Given the description of an element on the screen output the (x, y) to click on. 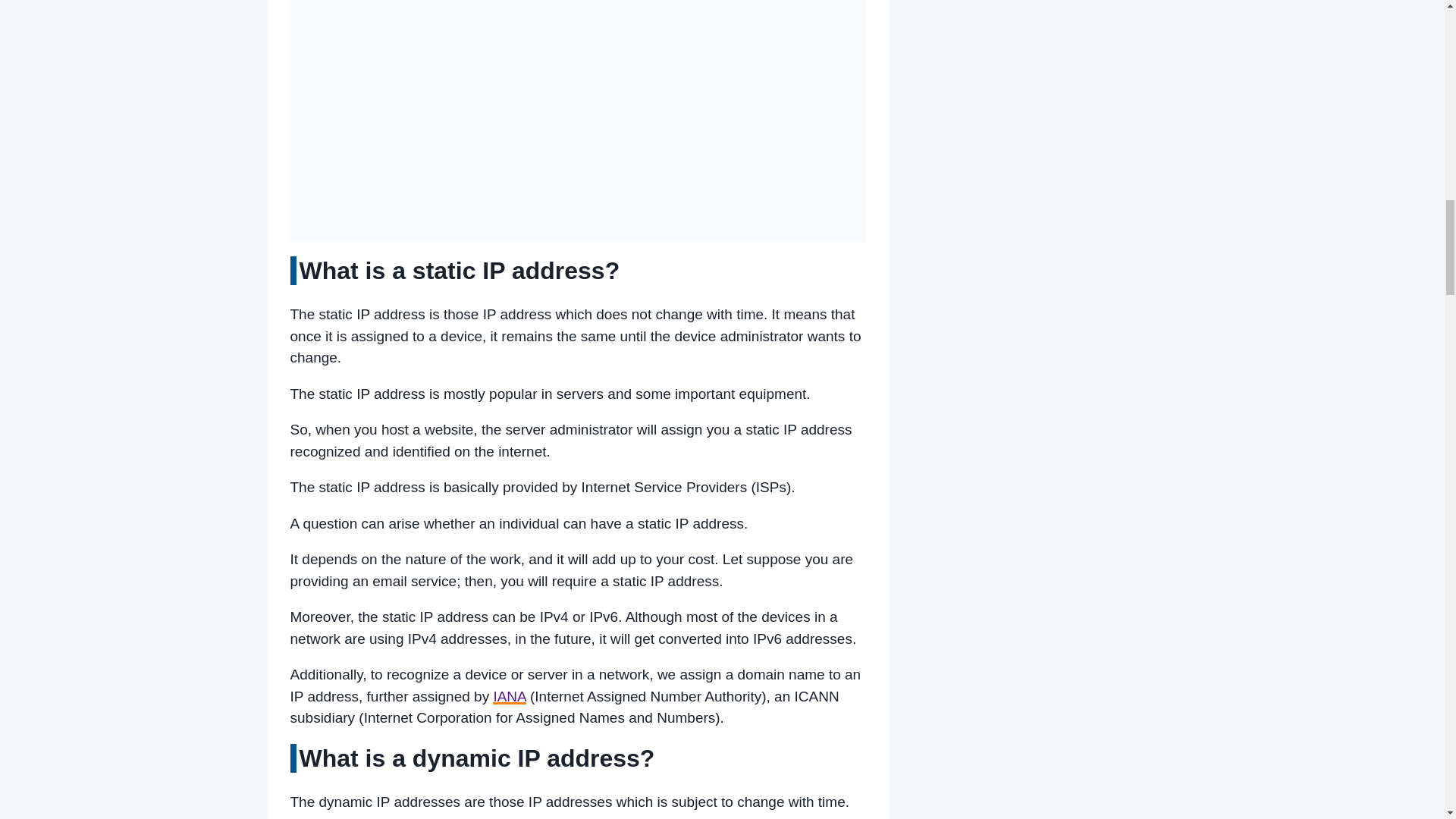
IANA (509, 696)
